Given the description of an element on the screen output the (x, y) to click on. 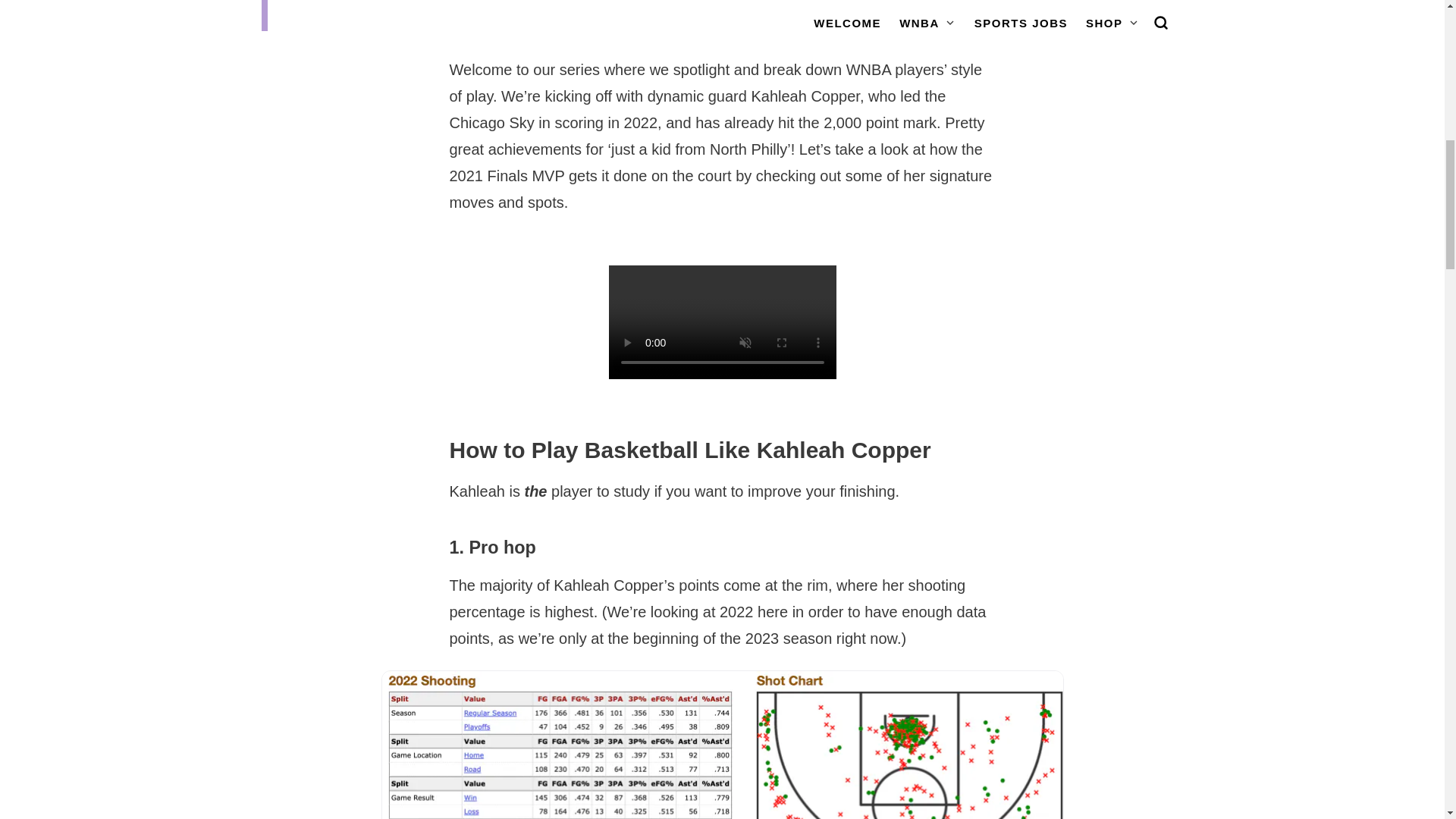
SIGN UP (644, 52)
